Given the description of an element on the screen output the (x, y) to click on. 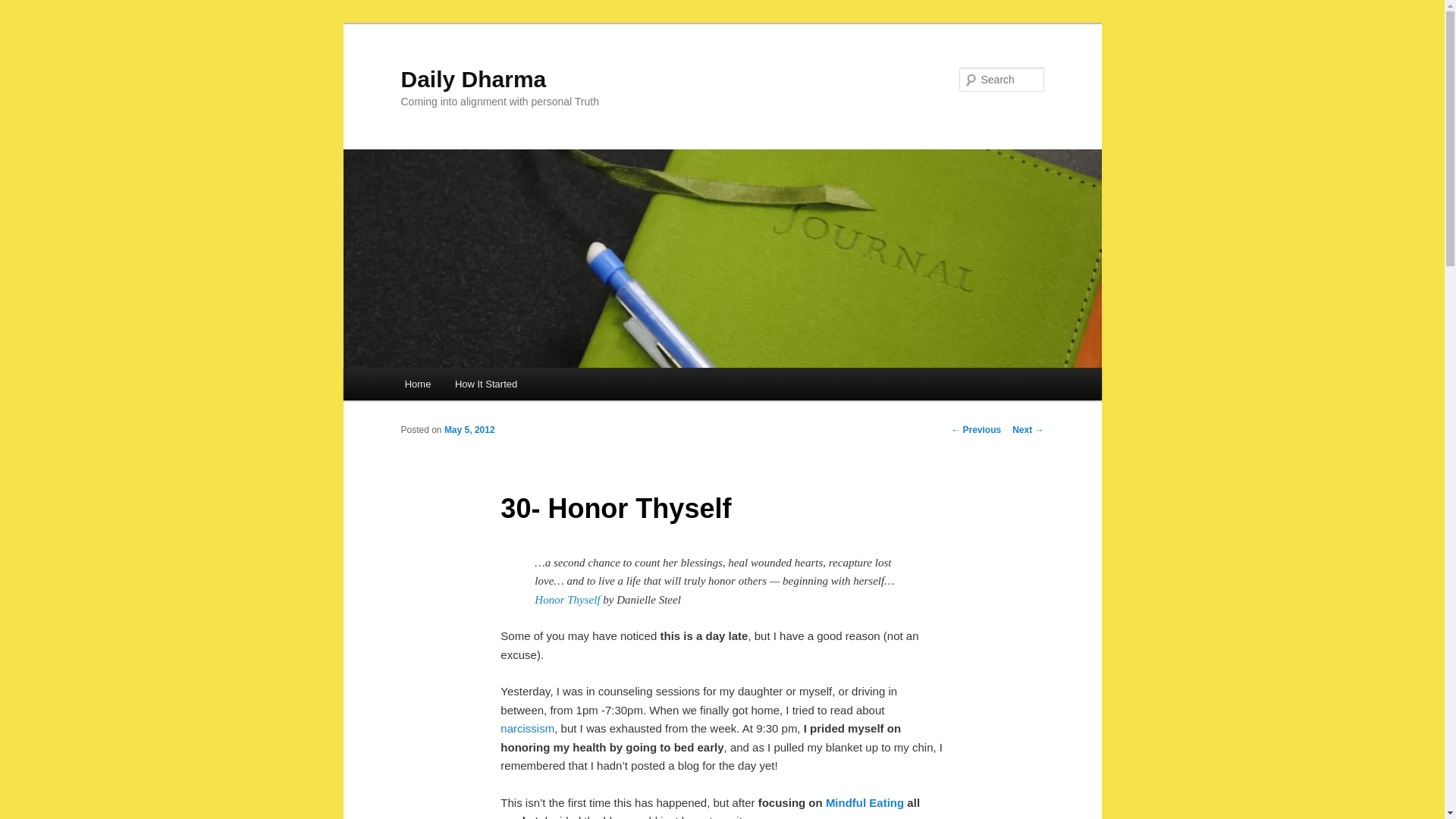
Honor Thyself (568, 599)
Daily Dharma (473, 78)
Home (417, 383)
1:29 pm (469, 429)
narcissism (527, 727)
How It Started (485, 383)
Mindful Eating (864, 802)
May 5, 2012 (469, 429)
Search (24, 8)
